Given the description of an element on the screen output the (x, y) to click on. 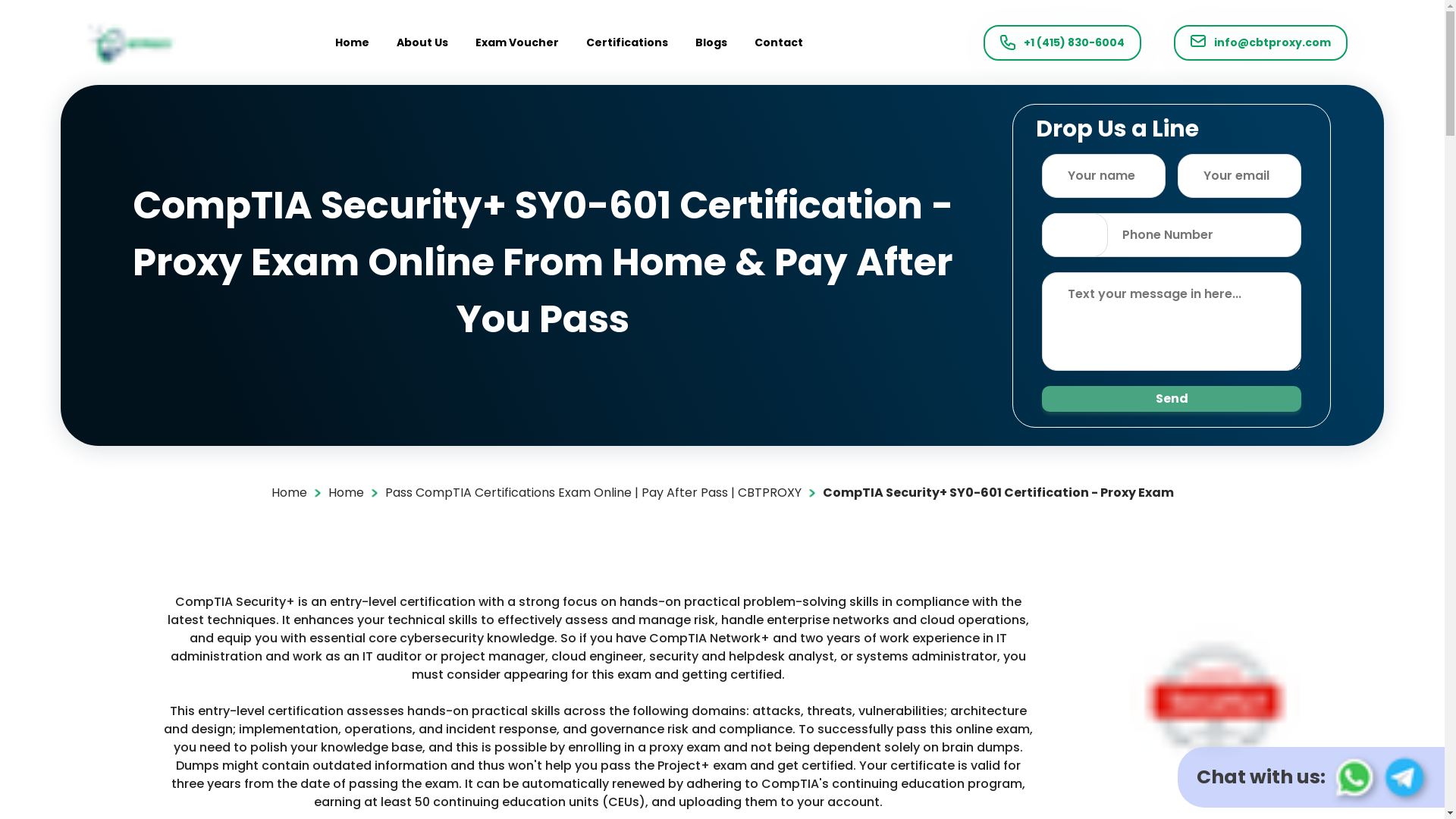
Home (344, 493)
Blogs (710, 42)
Home (351, 42)
Exam Voucher (517, 42)
About Us (422, 42)
Contact (778, 42)
Home (288, 493)
Send (1171, 397)
Certifications (627, 42)
